Given the description of an element on the screen output the (x, y) to click on. 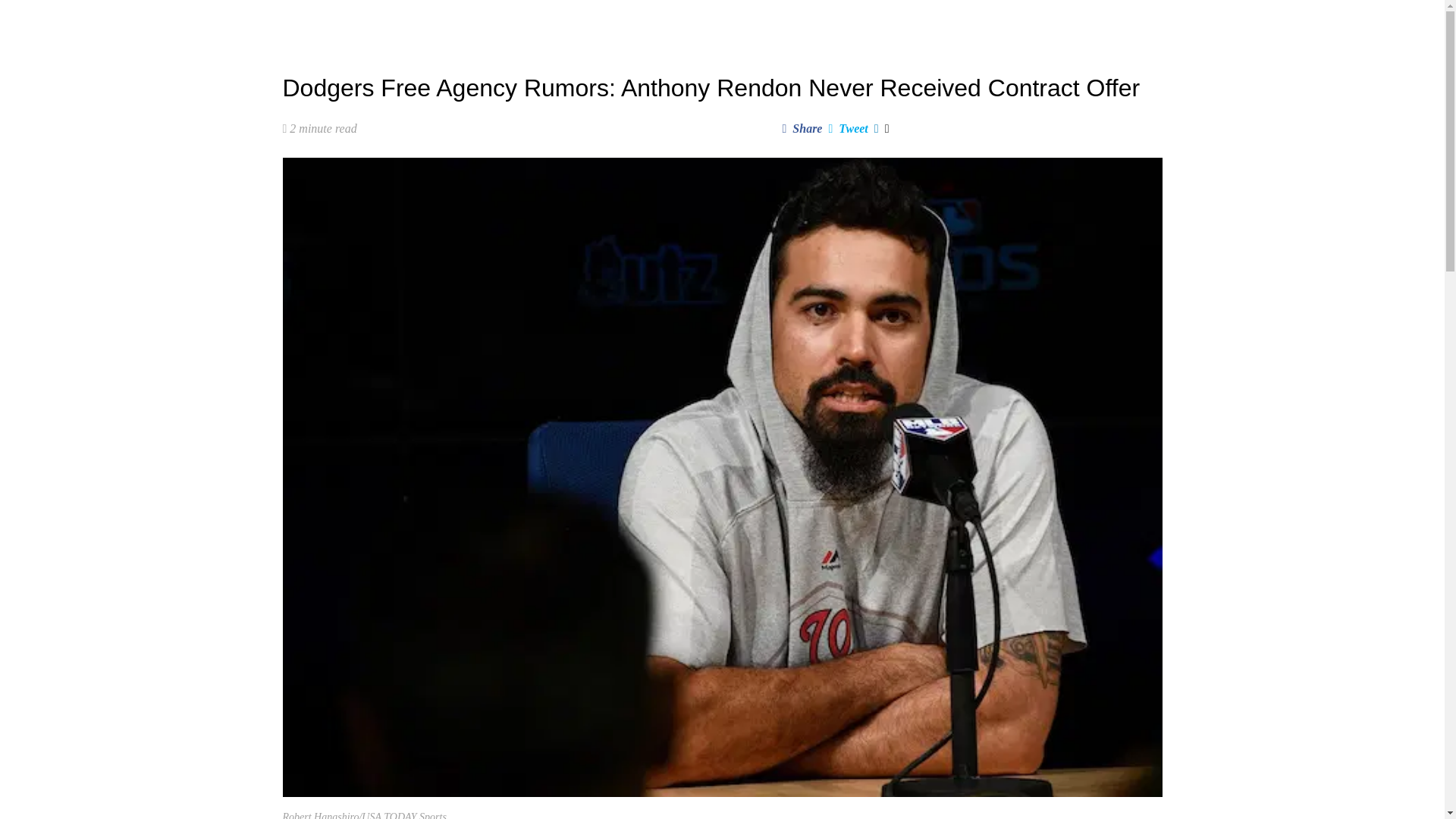
Schedules (578, 22)
Dodgers News (440, 22)
Dodger Blue (322, 22)
Team (640, 22)
Rumors (513, 22)
